Given the description of an element on the screen output the (x, y) to click on. 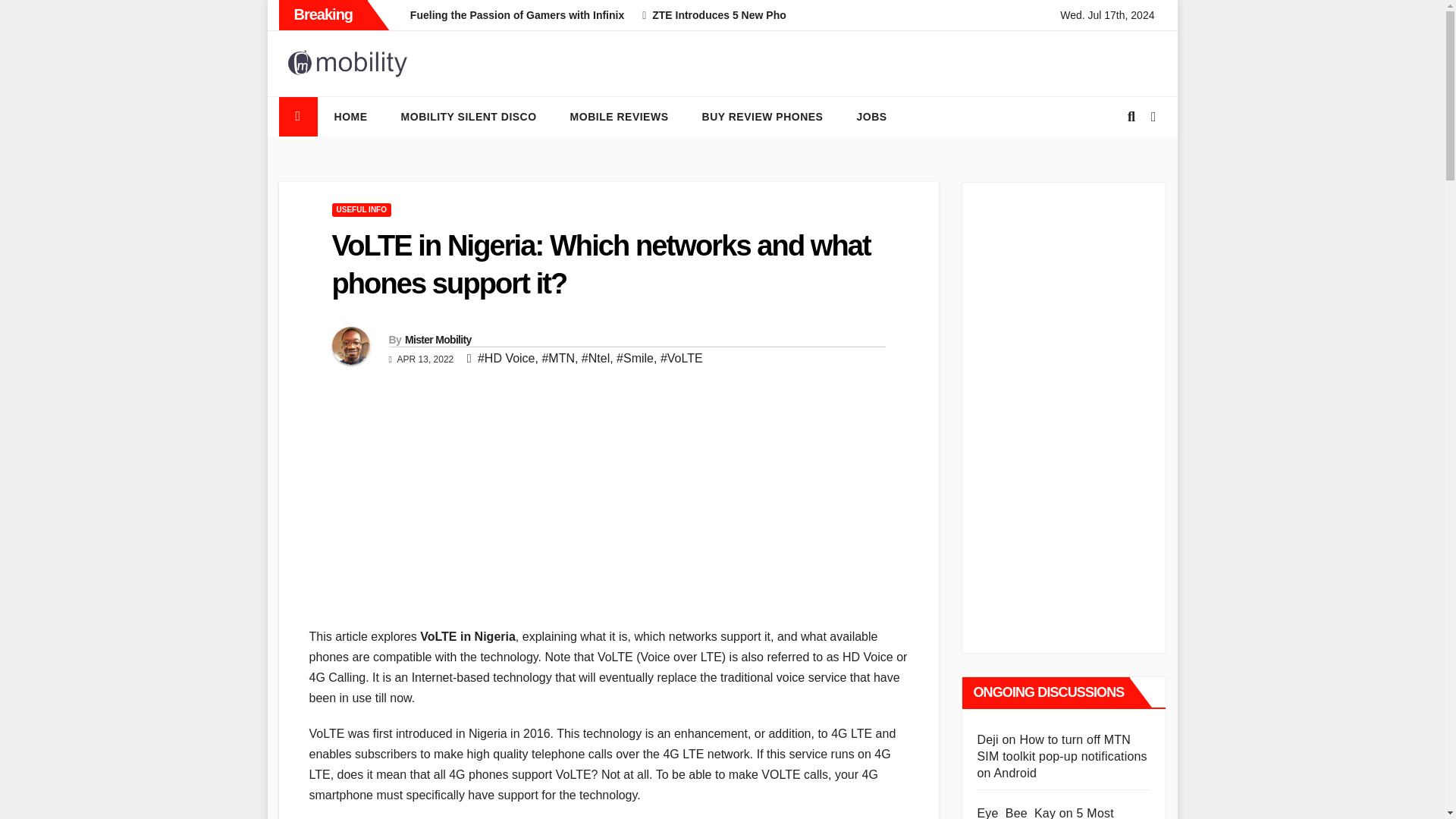
MOBILITY SILENT DISCO (468, 116)
BUY REVIEW PHONES (762, 116)
VoLTE in Nigeria: Which networks and what phones support it? (600, 264)
Mister Mobility (437, 339)
Buy Review Phones (762, 116)
Jobs (871, 116)
Mobility Silent Disco (468, 116)
HOME (350, 116)
JOBS (871, 116)
Mobile Reviews (619, 116)
USEFUL INFO (361, 210)
Home (350, 116)
Advertisement (608, 520)
